Given the description of an element on the screen output the (x, y) to click on. 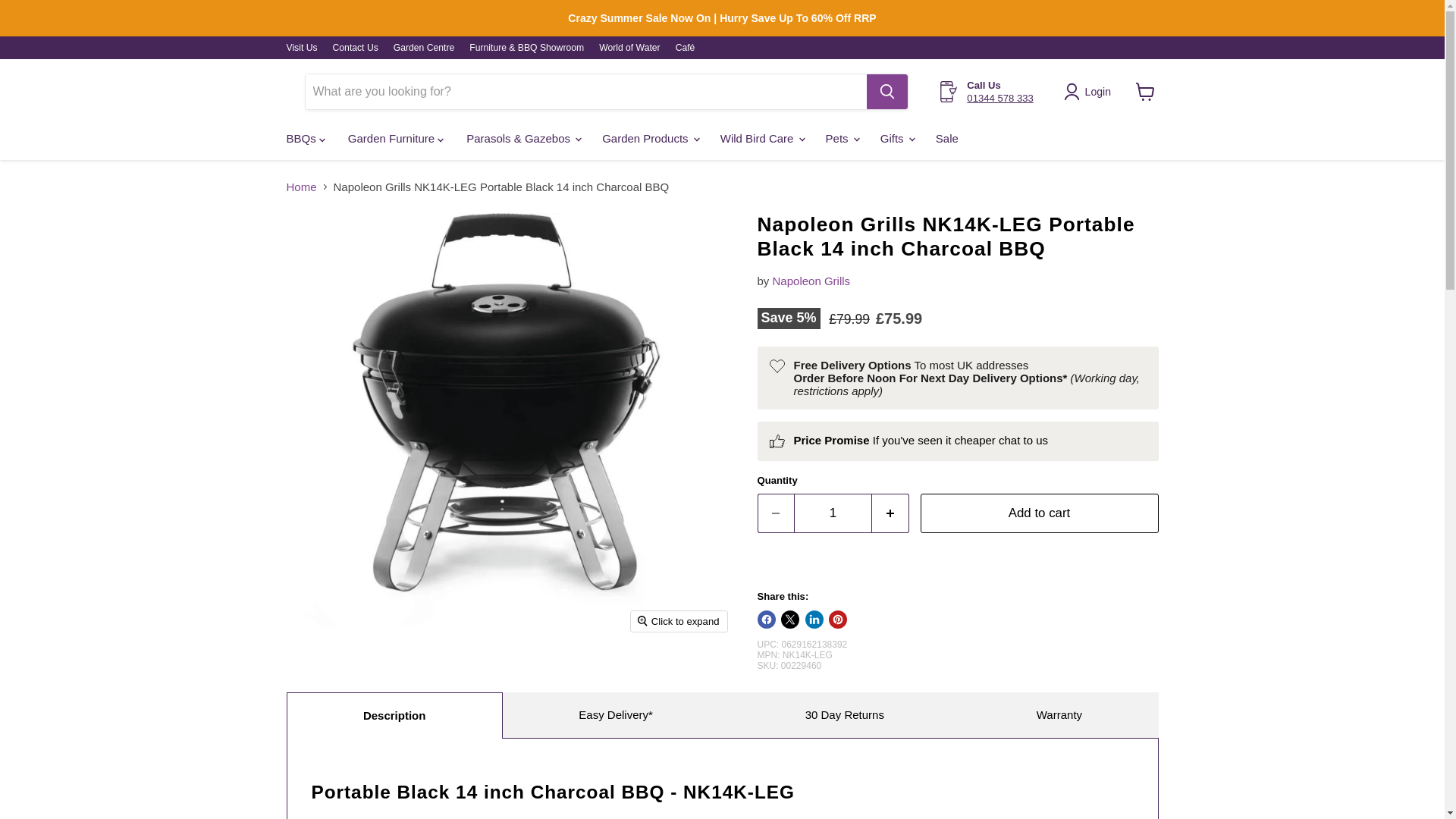
Login (1090, 91)
World of Water (629, 47)
Garden Centre (423, 47)
1 (832, 512)
View cart (1144, 91)
Contact Us (355, 47)
Visit Us (301, 47)
Napoleon Grills (811, 280)
01344 578 333 (999, 98)
Call us 01344 578333  (999, 98)
